Given the description of an element on the screen output the (x, y) to click on. 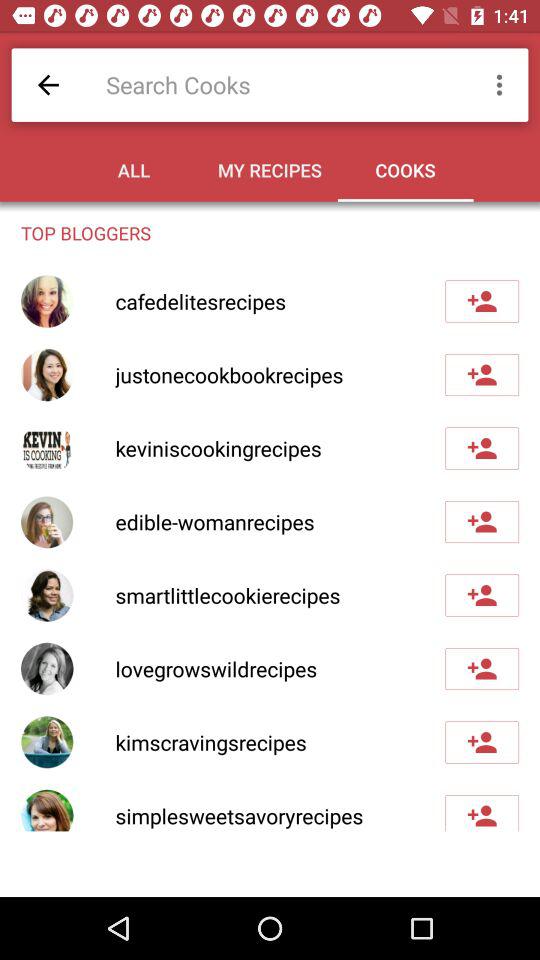
tap icon above top bloggers item (48, 84)
